Given the description of an element on the screen output the (x, y) to click on. 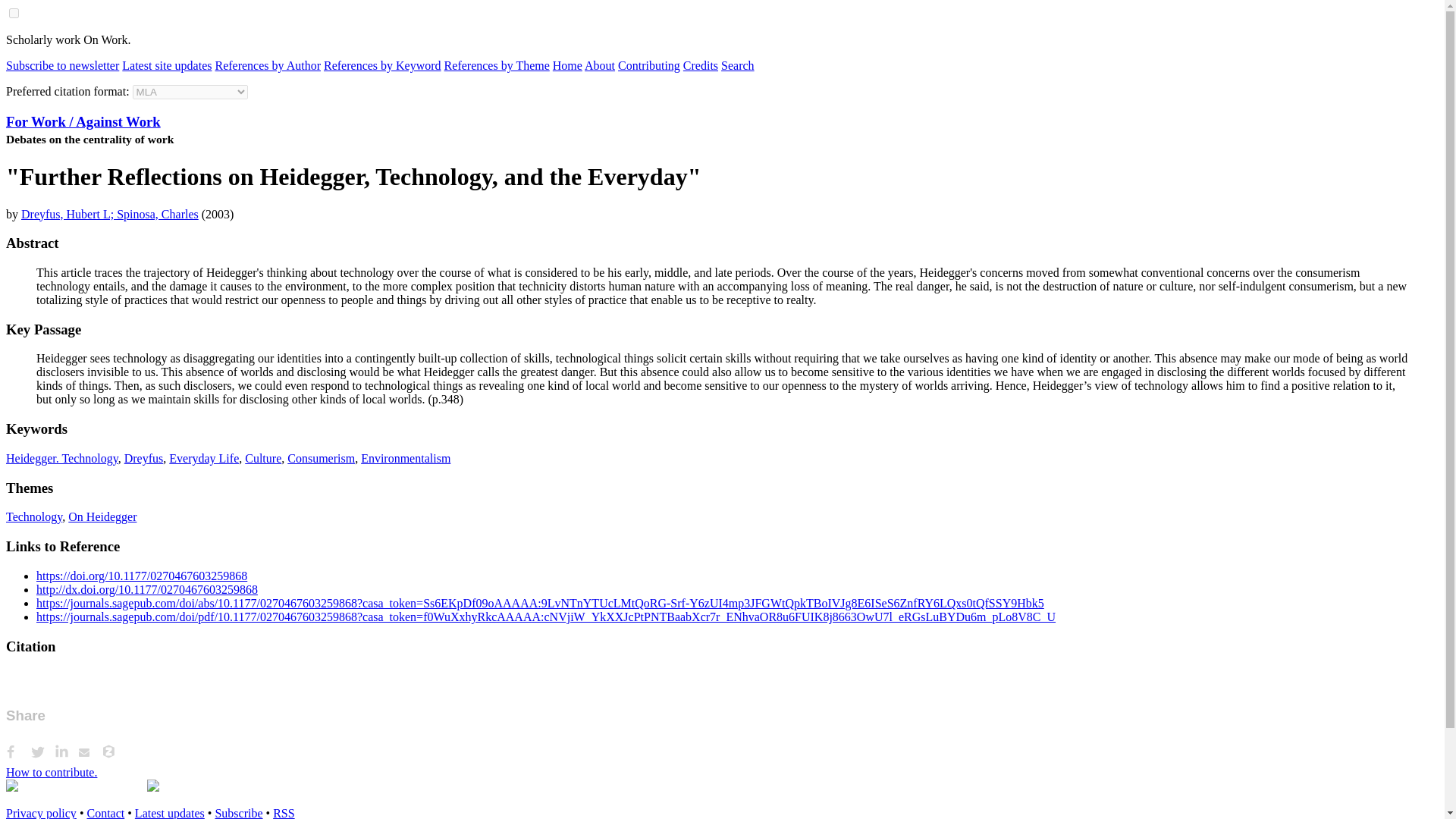
References by Keyword (382, 65)
Share this on Linkedin (66, 751)
Everyday Life (203, 458)
References by Theme (497, 65)
About (599, 65)
Technology (33, 516)
How to contribute. (51, 771)
References by Author (267, 65)
Search (737, 65)
Consumerism (320, 458)
Latest site updates (166, 65)
RSS (283, 812)
Heidegger. Technology (61, 458)
Privacy policy (41, 812)
Contributing (648, 65)
